Given the description of an element on the screen output the (x, y) to click on. 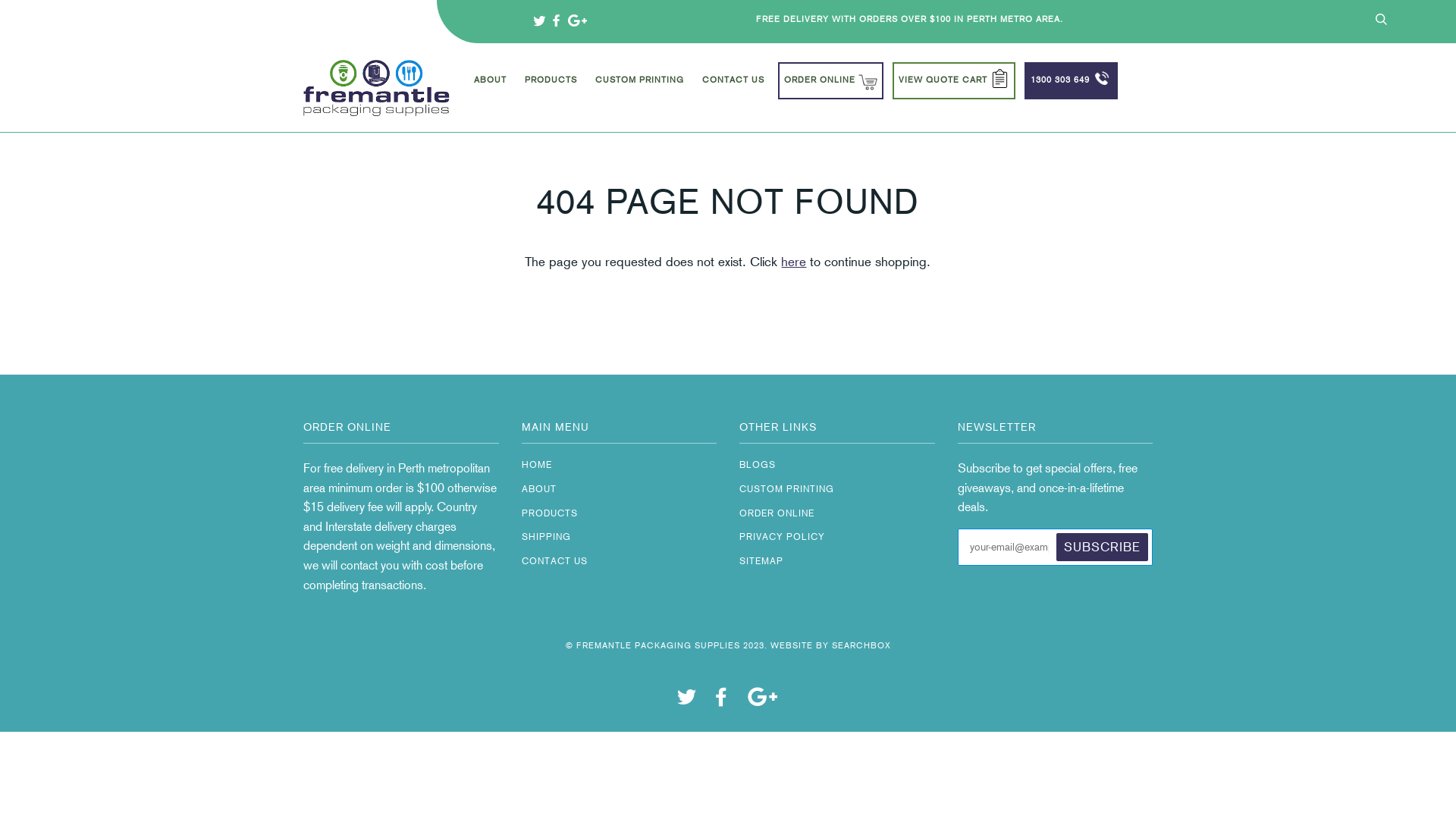
Twitter Element type: text (541, 20)
SHIPPING Element type: text (546, 536)
TWITTER Element type: text (686, 701)
PRODUCTS Element type: text (549, 513)
SEARCHBOX Element type: text (860, 645)
ORDER ONLINE Element type: text (776, 513)
HOME Element type: text (536, 464)
SITEMAP Element type: text (761, 560)
Facebook Element type: text (557, 20)
Subscribe Element type: text (1102, 547)
BLOGS Element type: text (757, 464)
here Element type: text (793, 261)
GOOGLE PLUS Element type: text (762, 701)
Google Plus Element type: text (576, 20)
PRIVACY POLICY Element type: text (782, 536)
ABOUT Element type: text (538, 488)
ORDER ONLINE Element type: text (830, 80)
CONTACT US Element type: text (733, 85)
CUSTOM PRINTING Element type: text (786, 488)
1300 303 649 Element type: text (1070, 80)
VIEW QUOTE CART Element type: text (953, 80)
FACEBOOK Element type: text (721, 701)
CUSTOM PRINTING Element type: text (639, 85)
CONTACT US Element type: text (554, 560)
ABOUT Element type: text (489, 85)
PRODUCTS Element type: text (550, 85)
